Given the description of an element on the screen output the (x, y) to click on. 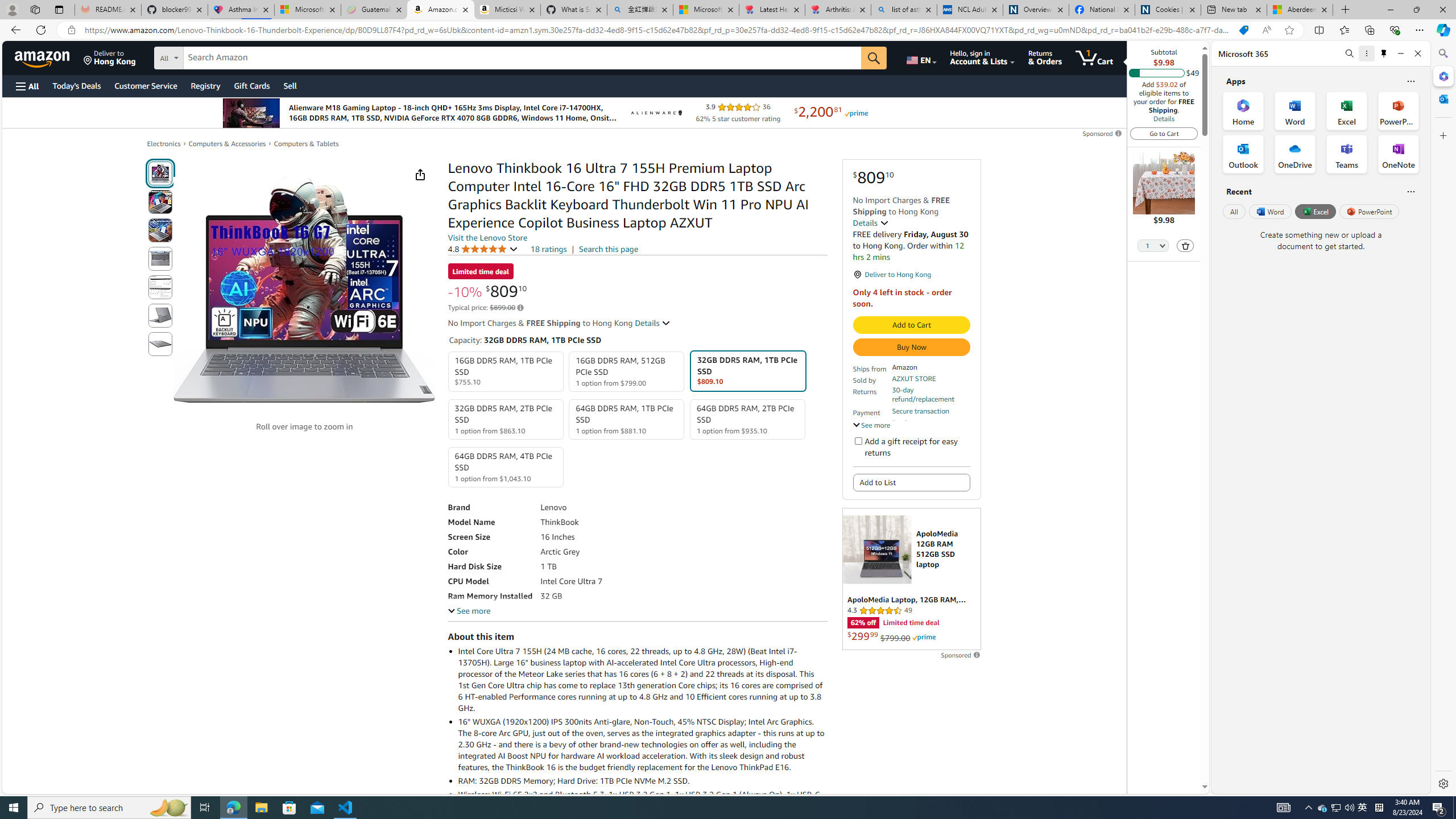
RAM: 32GB DDR5 Memory; Hard Drive: 1TB PCIe NVMe M.2 SSD. (642, 780)
Choose a language for shopping. (920, 57)
1 item in cart (1094, 57)
Today's Deals (76, 85)
Sponsored ad (911, 578)
Details (1163, 118)
Teams Office App (1346, 154)
Deliver to Hong Kong (109, 57)
Quantity Selector (1153, 246)
